Given the description of an element on the screen output the (x, y) to click on. 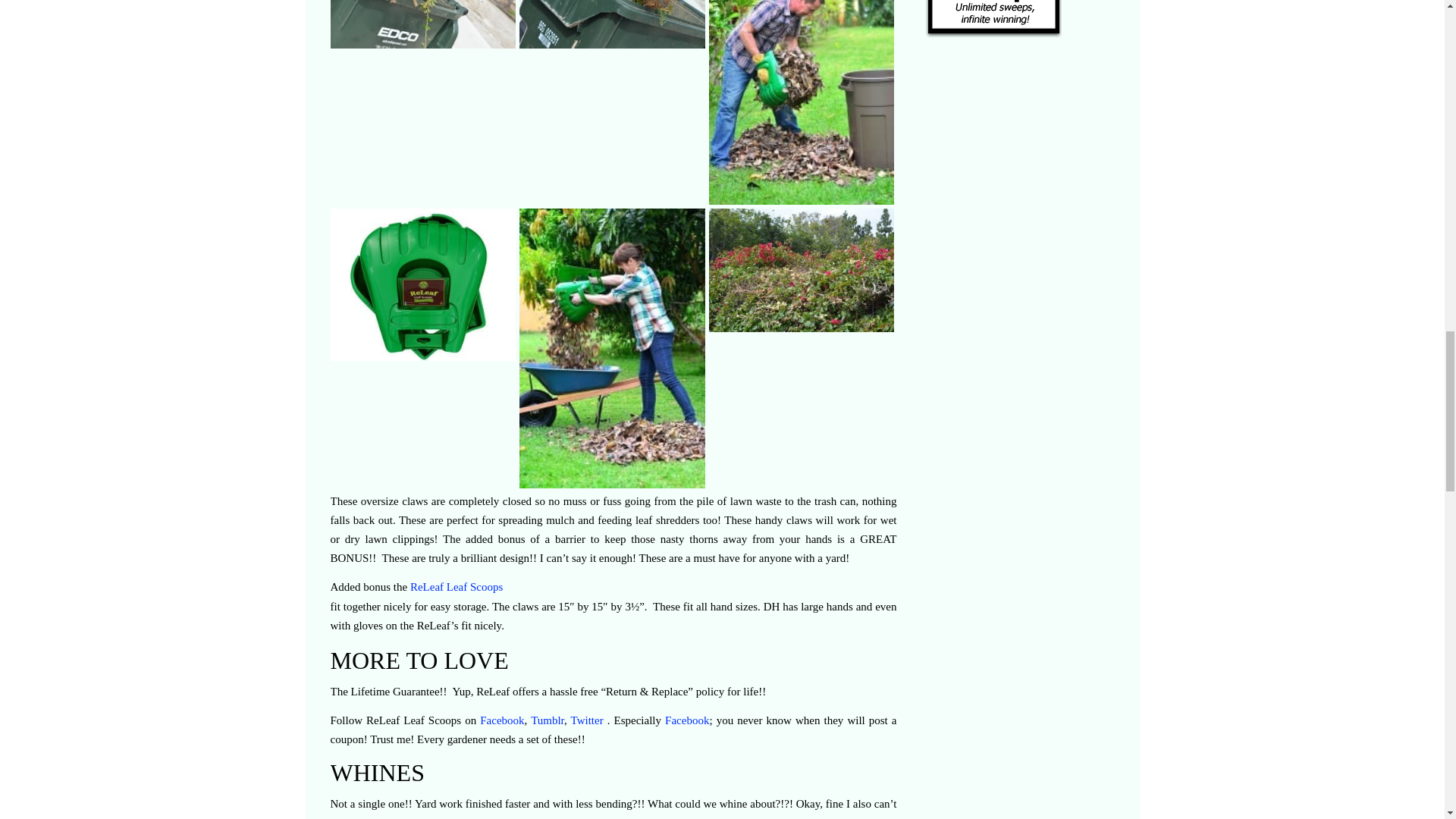
ReLeaf Leaf Scoops (456, 586)
Facebook (687, 720)
Twitter (587, 720)
Facebook (502, 720)
Tumblr (547, 720)
